Given the description of an element on the screen output the (x, y) to click on. 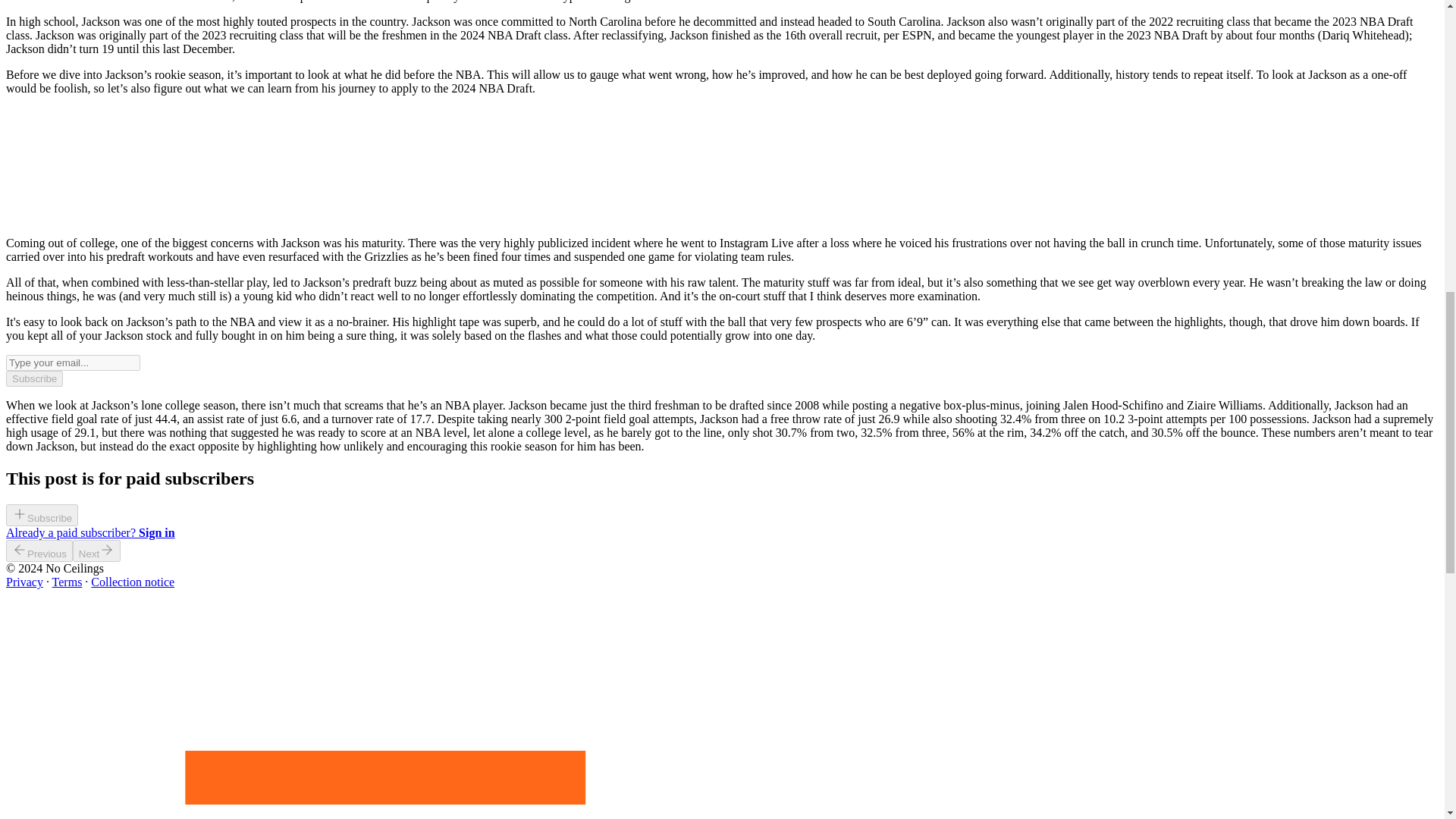
Subscribe (41, 515)
Subscribe (41, 517)
Terms (67, 581)
Next (96, 550)
Subscribe (33, 378)
Previous (38, 550)
Collection notice (132, 581)
Already a paid subscriber? Sign in (89, 532)
Privacy (24, 581)
